Given the description of an element on the screen output the (x, y) to click on. 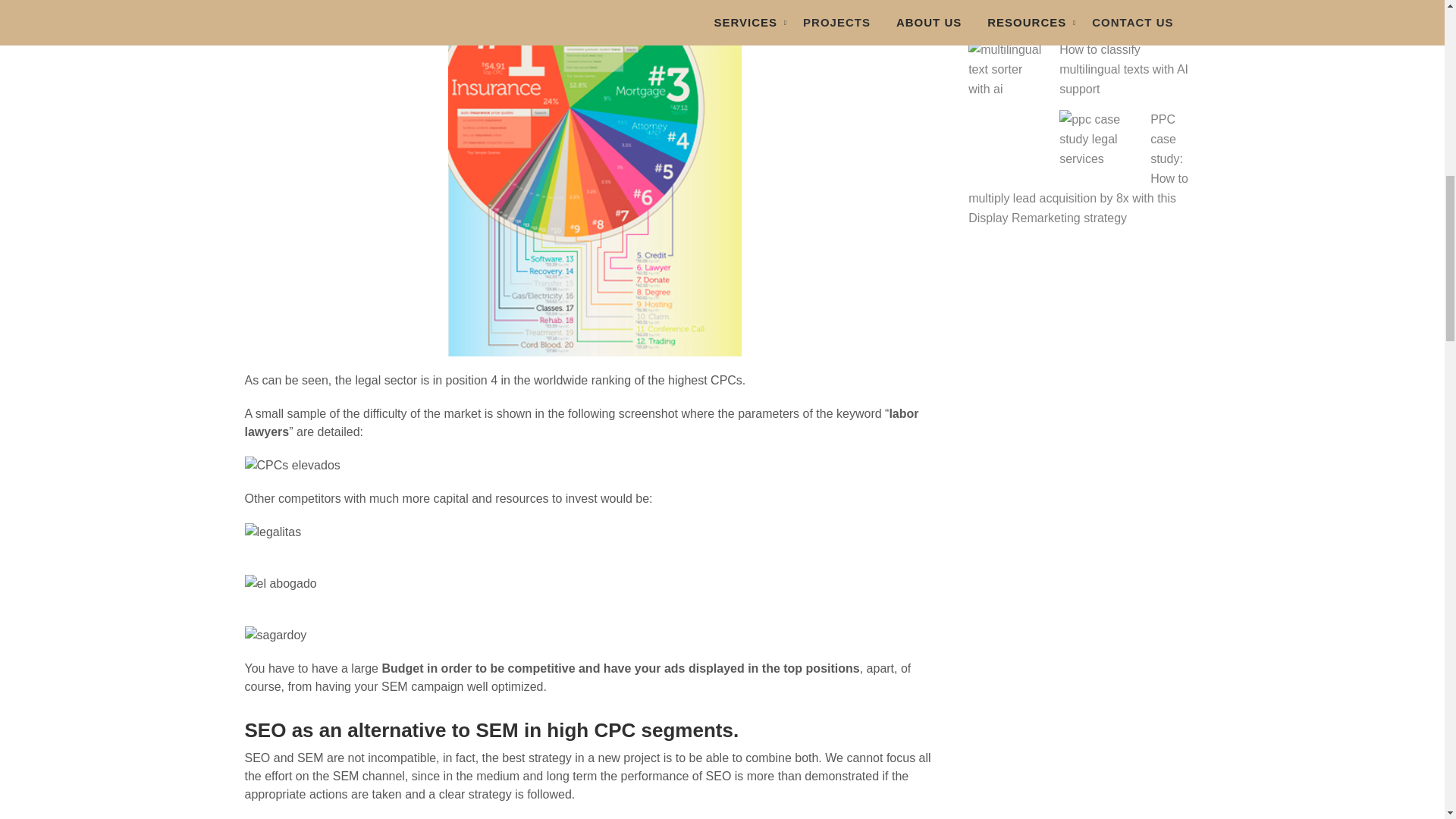
sagardoy 1 (594, 635)
vision (594, 465)
el abogado (594, 583)
legalitas (594, 532)
